Given the description of an element on the screen output the (x, y) to click on. 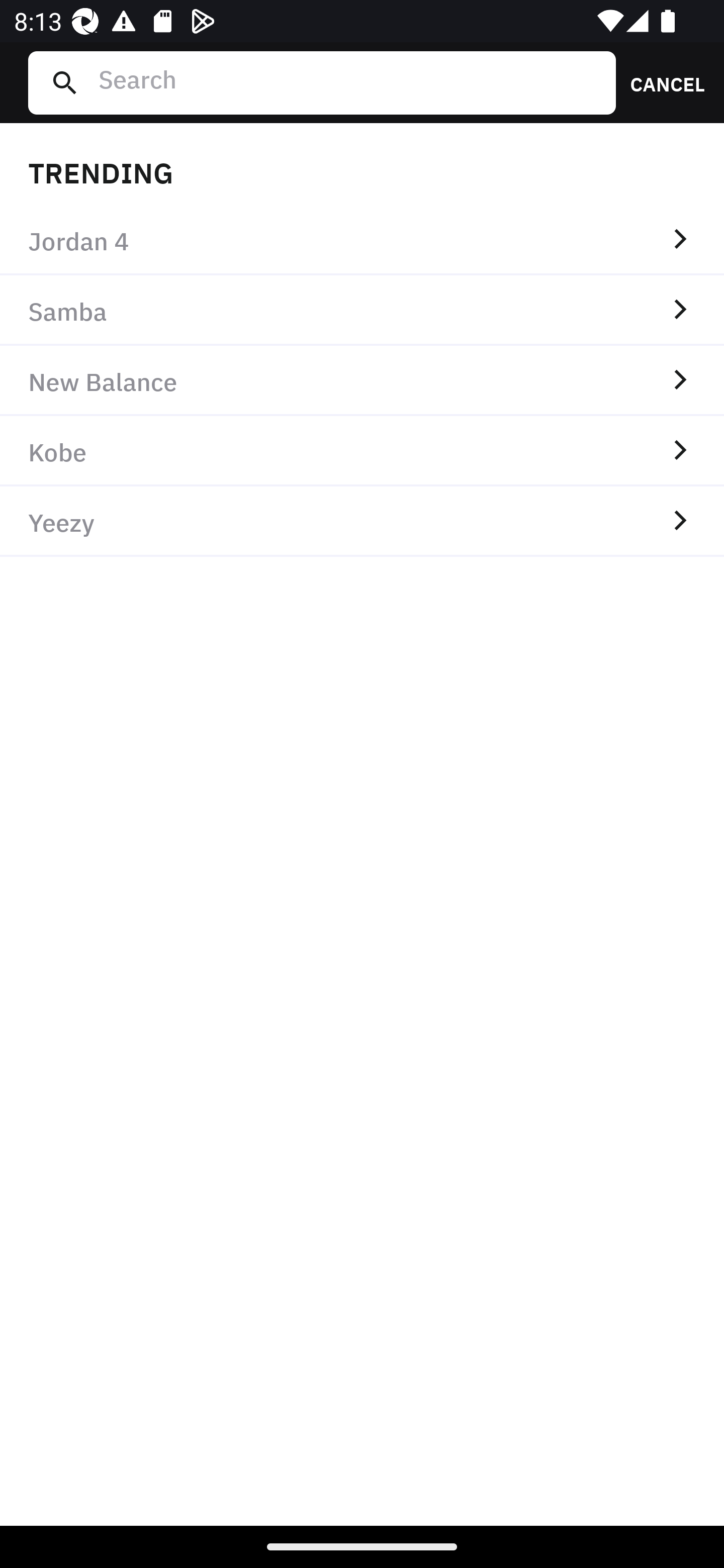
CANCEL (660, 82)
Search (349, 82)
Jordan 4  (362, 240)
Samba  (362, 310)
New Balance  (362, 380)
Kobe  (362, 450)
Yeezy  (362, 521)
